Given the description of an element on the screen output the (x, y) to click on. 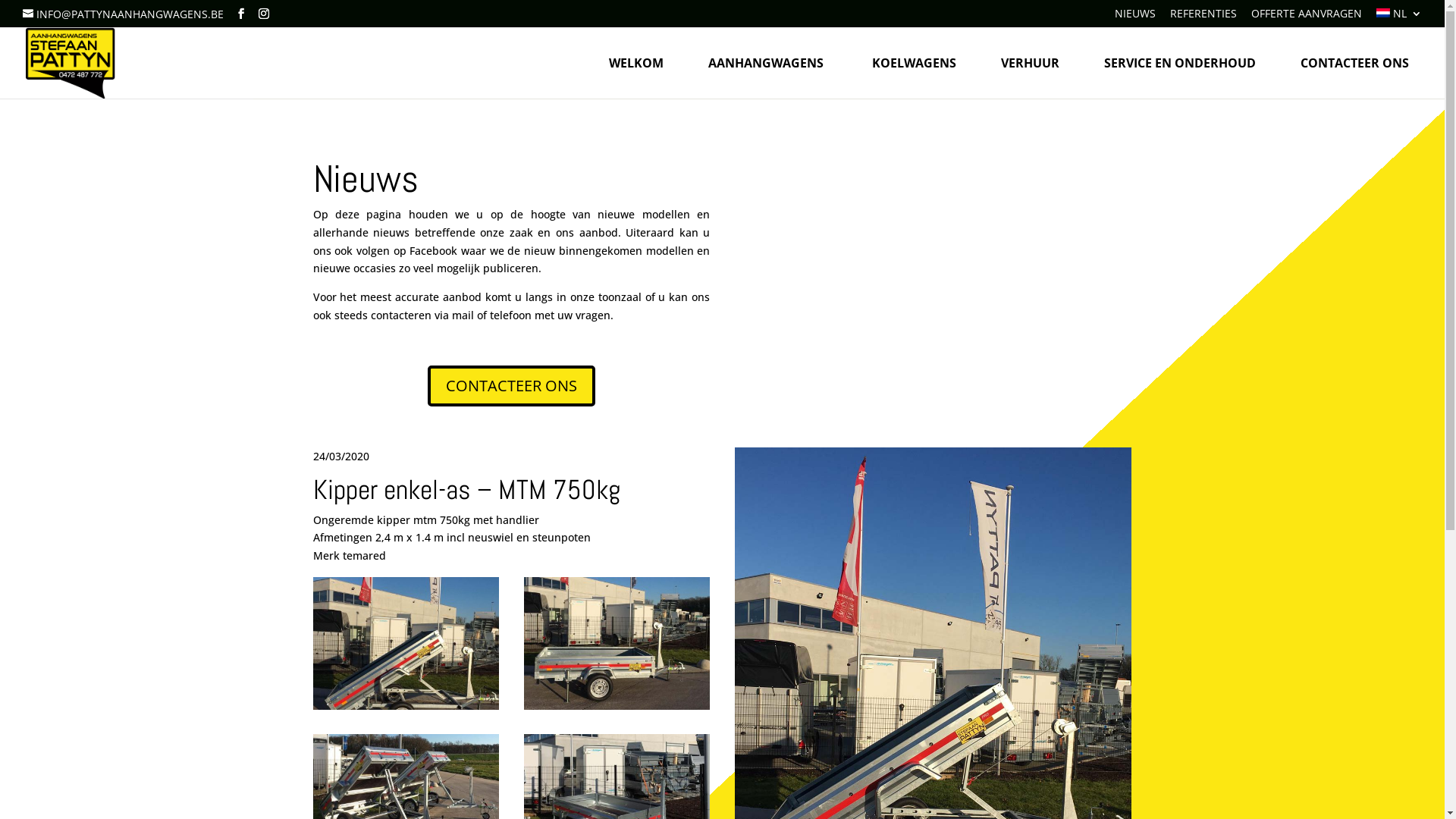
INFO@PATTYNAANHANGWAGENS.BE Element type: text (122, 13)
CONTACTEER ONS Element type: text (511, 385)
VERHUUR Element type: text (1029, 62)
KOELWAGENS Element type: text (913, 62)
NL Element type: text (1398, 16)
Temared kipper met neuswiel - Aanhangwagens Pattyn Element type: hover (617, 705)
NIEUWS Element type: text (1134, 16)
AANHANGWAGENS Element type: text (767, 62)
OFFERTE AANVRAGEN Element type: text (1306, 16)
SERVICE EN ONDERHOUD Element type: text (1179, 62)
2-asser kipper Temared mtm 750kg Element type: hover (405, 705)
CONTACTEER ONS Element type: text (1354, 62)
WELKOM Element type: text (635, 62)
REFERENTIES Element type: text (1203, 16)
